Given the description of an element on the screen output the (x, y) to click on. 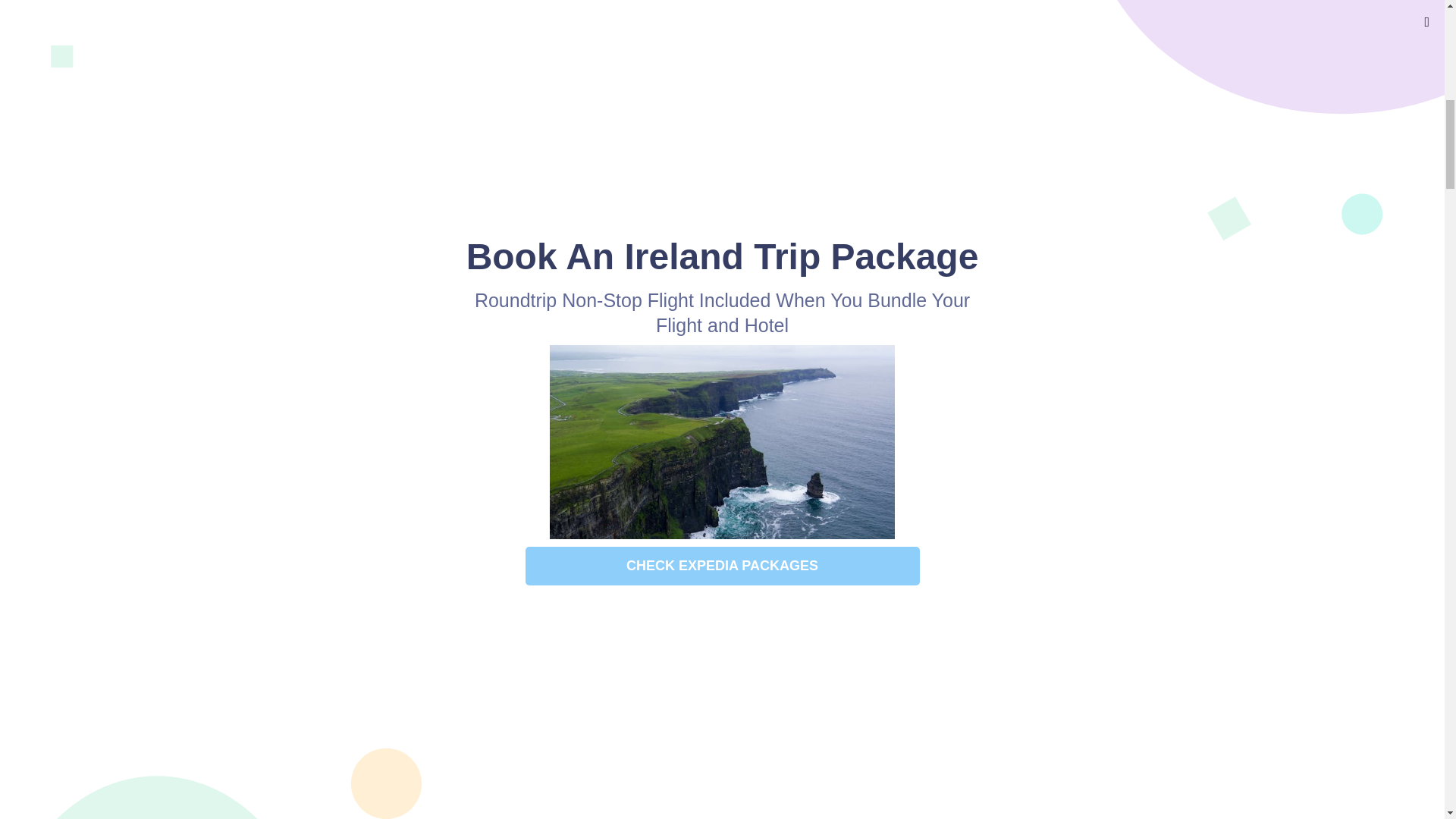
big (963, 27)
big (963, 27)
druids (699, 409)
